Given the description of an element on the screen output the (x, y) to click on. 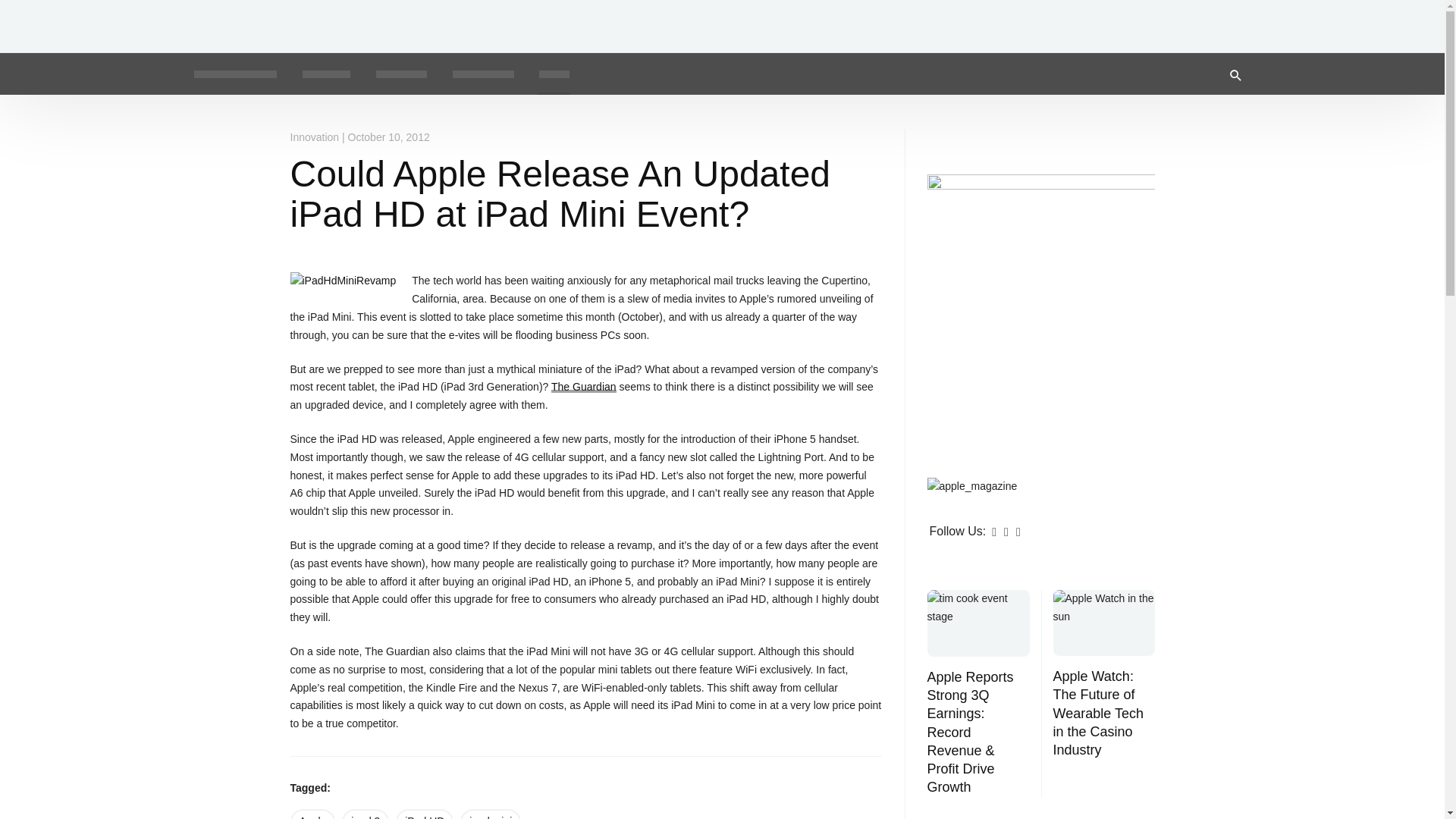
Apple (311, 814)
iPadHdMiniRevamp (342, 280)
Innovation (314, 137)
The Guardian (583, 386)
ipad mini (490, 814)
ipad 3 (365, 814)
iPad HD (424, 814)
